Given the description of an element on the screen output the (x, y) to click on. 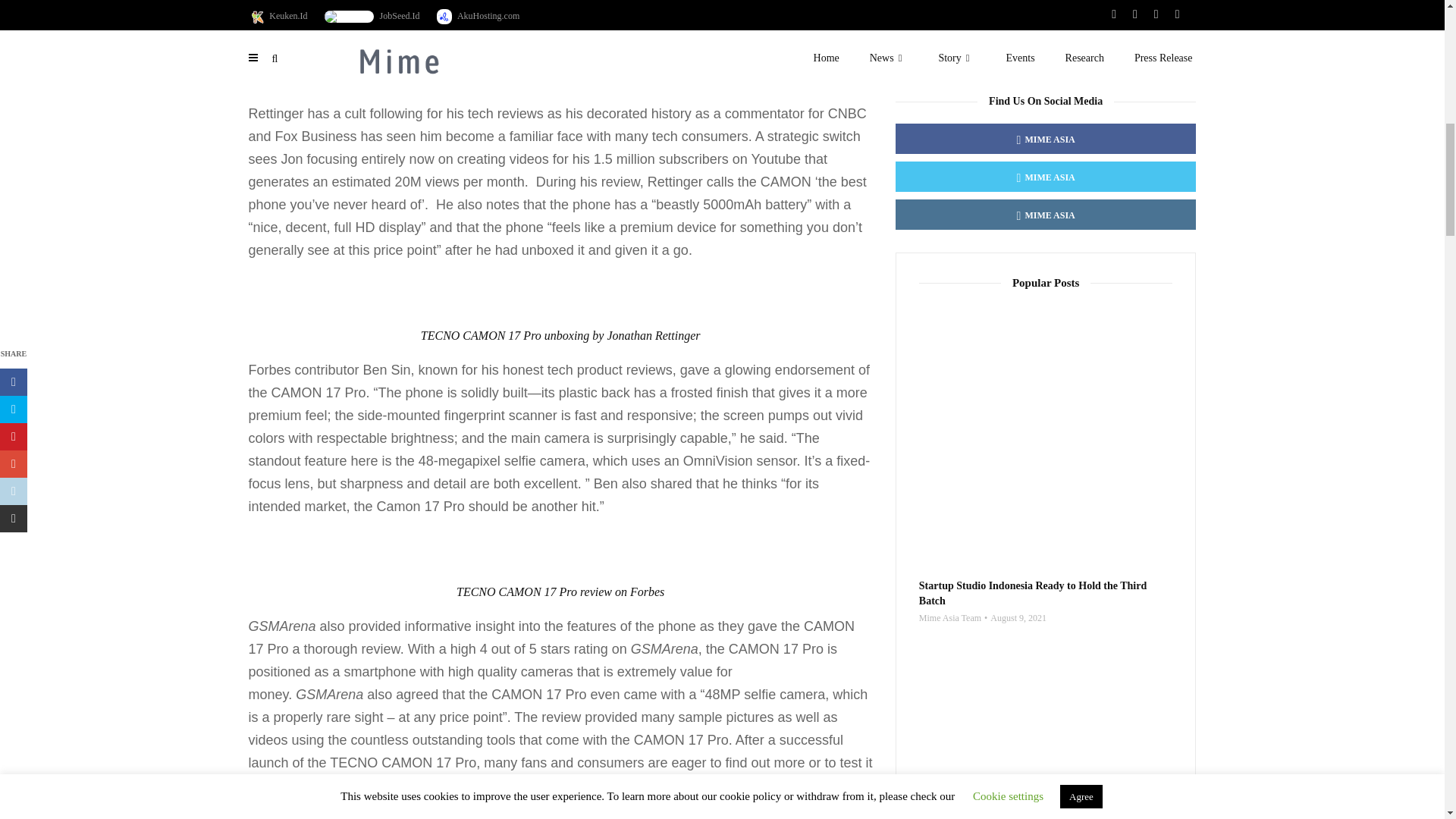
Advertisement (1045, 28)
